Given the description of an element on the screen output the (x, y) to click on. 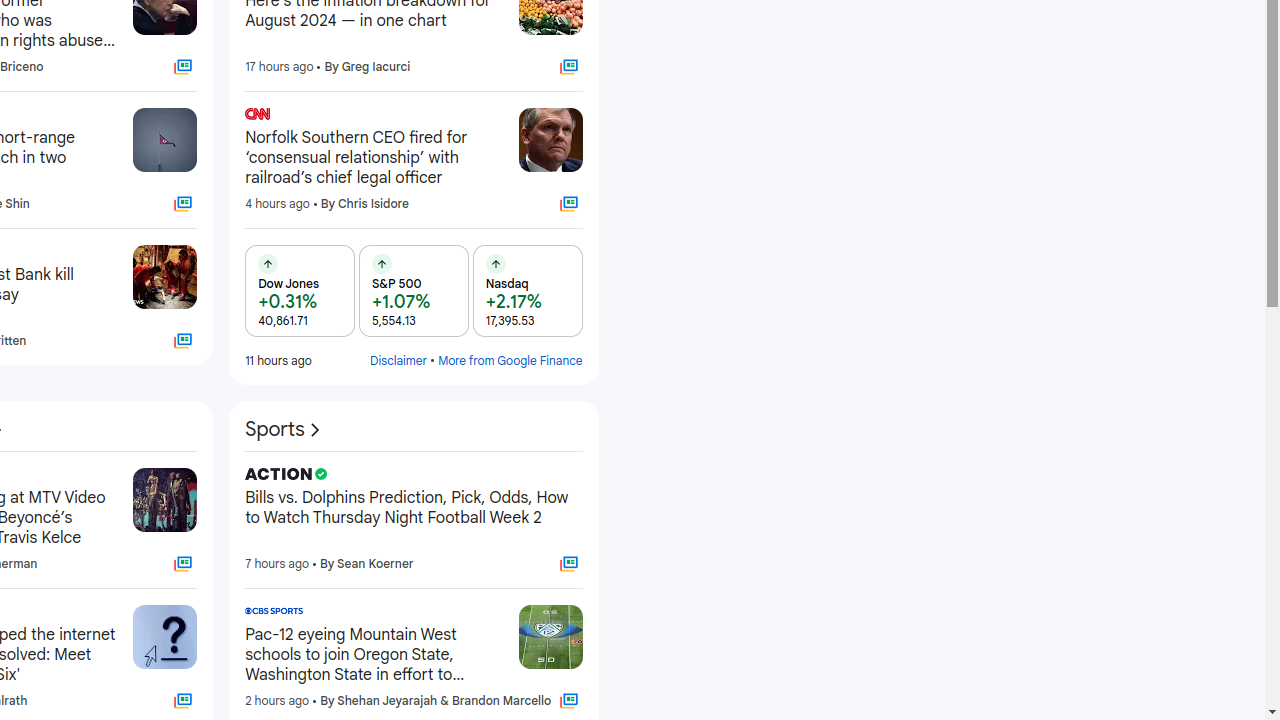
Disclaimer Element type: link (399, 360)
Bills vs. Dolphins Prediction, Pick, Odds, How to Watch Thursday Night Football Week 2 Element type: link (414, 518)
